Given the description of an element on the screen output the (x, y) to click on. 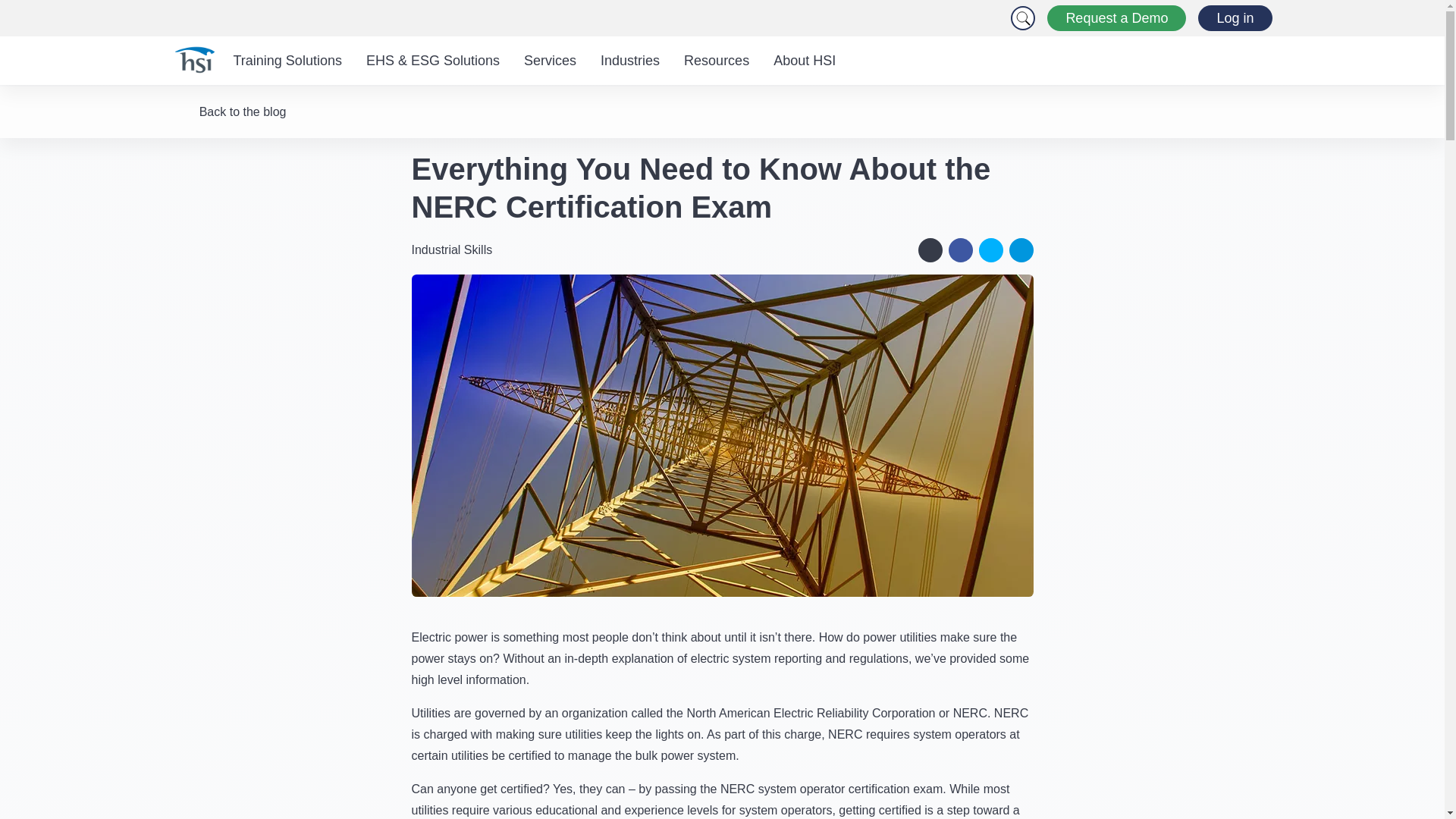
Request a Demo (1116, 17)
Training Solutions (287, 60)
Log in (1234, 17)
